Given the description of an element on the screen output the (x, y) to click on. 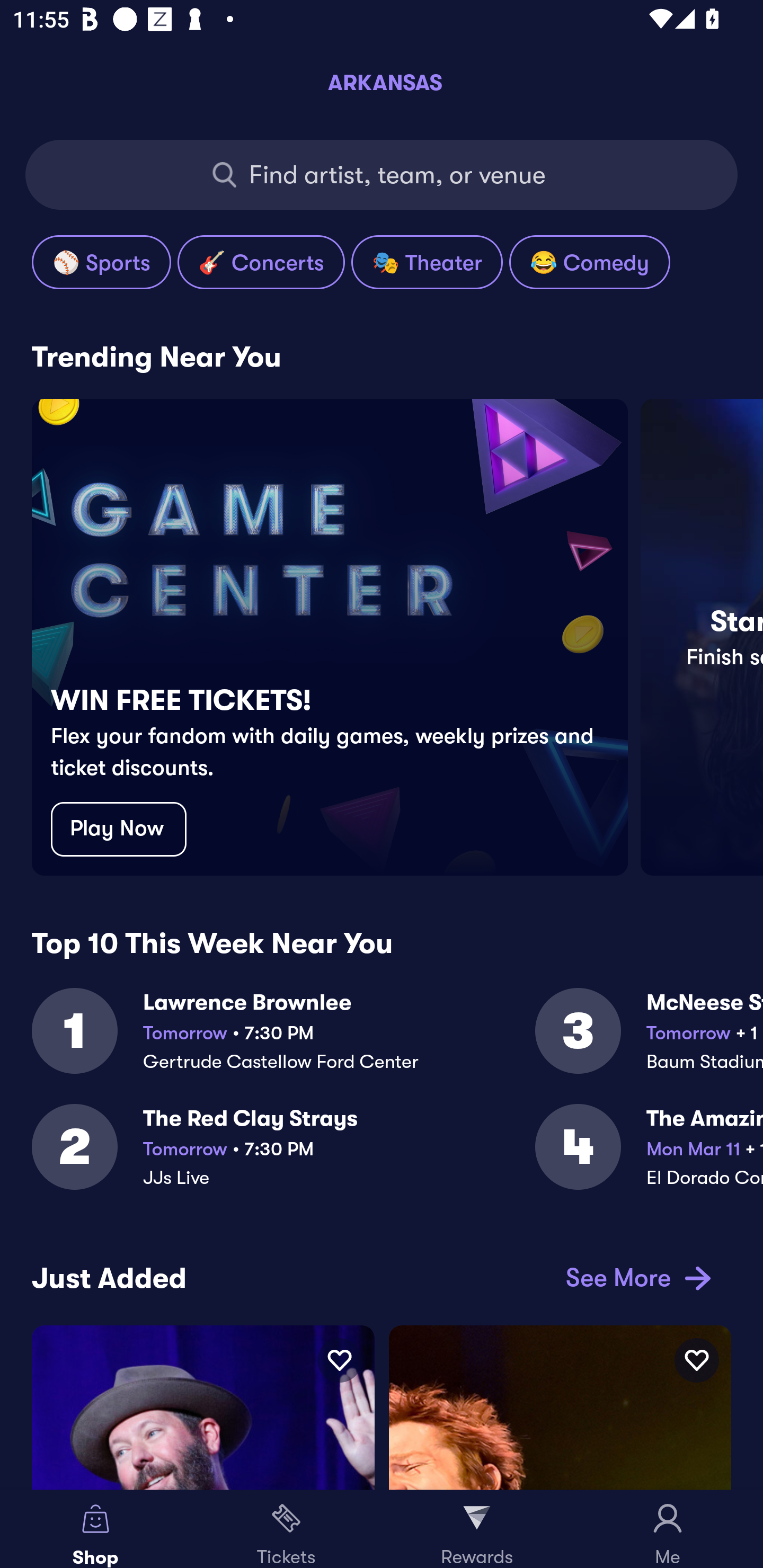
ARKANSAS (381, 81)
Find artist, team, or venue (381, 174)
⚾ Sports (101, 261)
🎸 Concerts (261, 261)
🎭 Theater (426, 261)
😂 Comedy (589, 261)
2 The Red Clay Strays Tomorrow  • 7:30 PM JJs Live (283, 1158)
See More (635, 1277)
icon button (339, 1359)
icon button (696, 1359)
Shop (95, 1529)
Tickets (285, 1529)
Rewards (476, 1529)
Me (667, 1529)
